Given the description of an element on the screen output the (x, y) to click on. 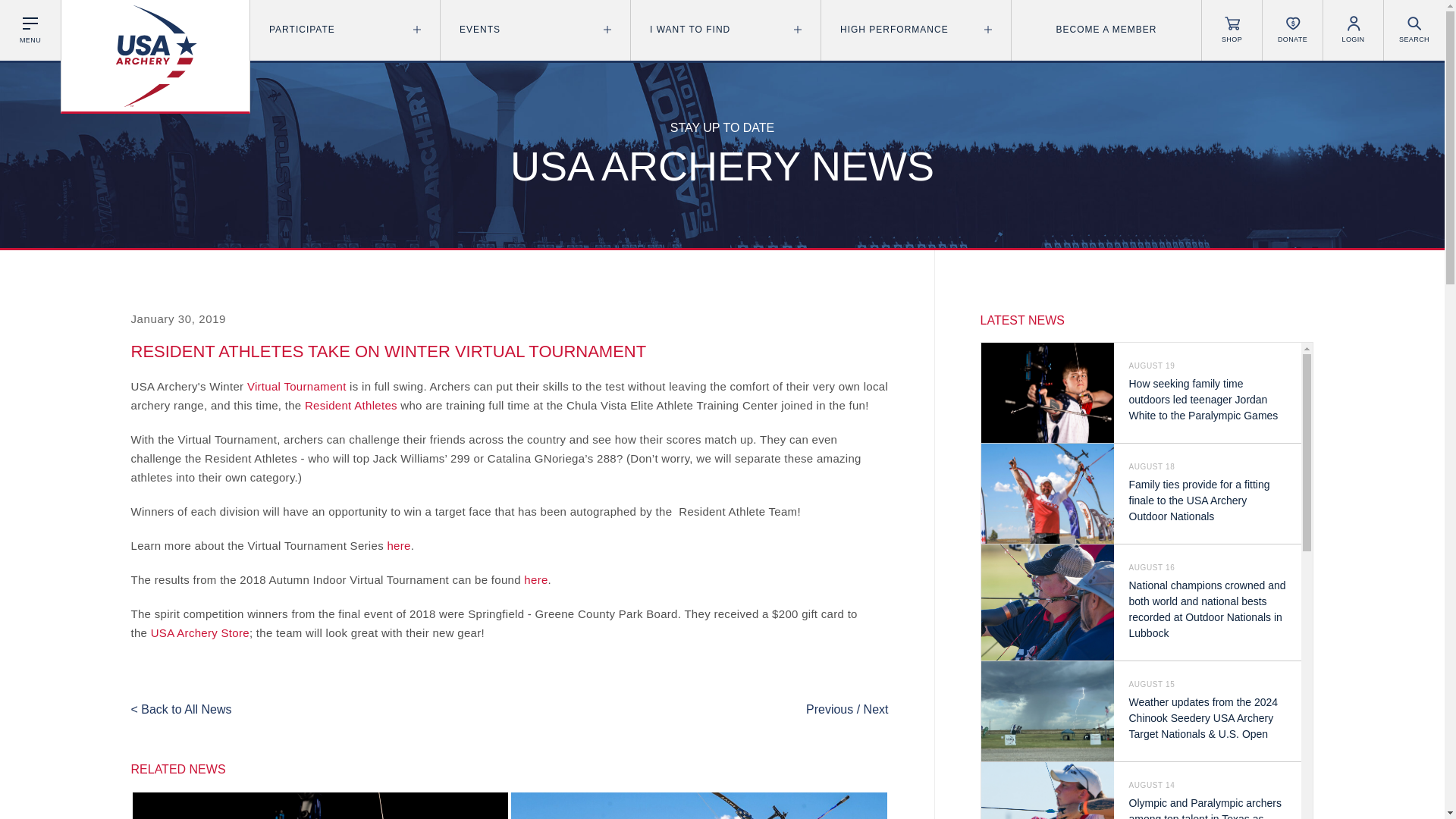
I WANT TO FIND (725, 29)
SHOP (1232, 30)
PARTICIPATE (344, 29)
EVENTS (535, 29)
BECOME A MEMBER (1106, 29)
DONATE (1292, 30)
HIGH PERFORMANCE (915, 29)
LOGIN (1353, 30)
